Given the description of an element on the screen output the (x, y) to click on. 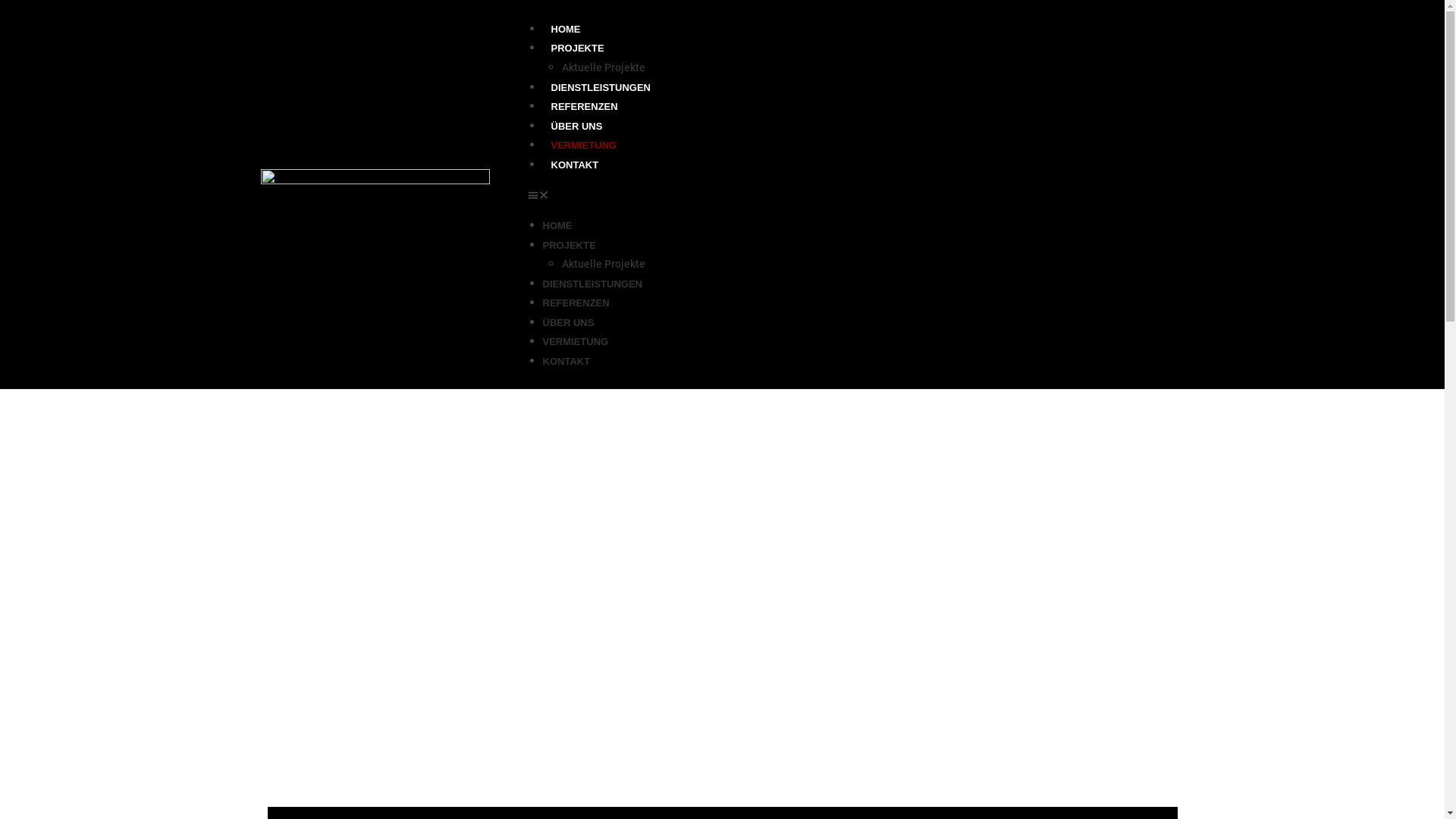
Aktuelle Projekte Element type: text (603, 263)
Aktuelle Projekte Element type: text (603, 67)
VERMIETUNG Element type: text (575, 341)
REFERENZEN Element type: text (584, 106)
PROJEKTE Element type: text (577, 47)
KONTAKT Element type: text (574, 164)
PROJEKTE Element type: text (569, 245)
HOME Element type: text (565, 28)
DIENSTLEISTUNGEN Element type: text (600, 87)
VERMIETUNG Element type: text (583, 144)
HOME Element type: text (557, 225)
KONTAKT Element type: text (566, 361)
REFERENZEN Element type: text (575, 302)
DIENSTLEISTUNGEN Element type: text (592, 283)
